Given the description of an element on the screen output the (x, y) to click on. 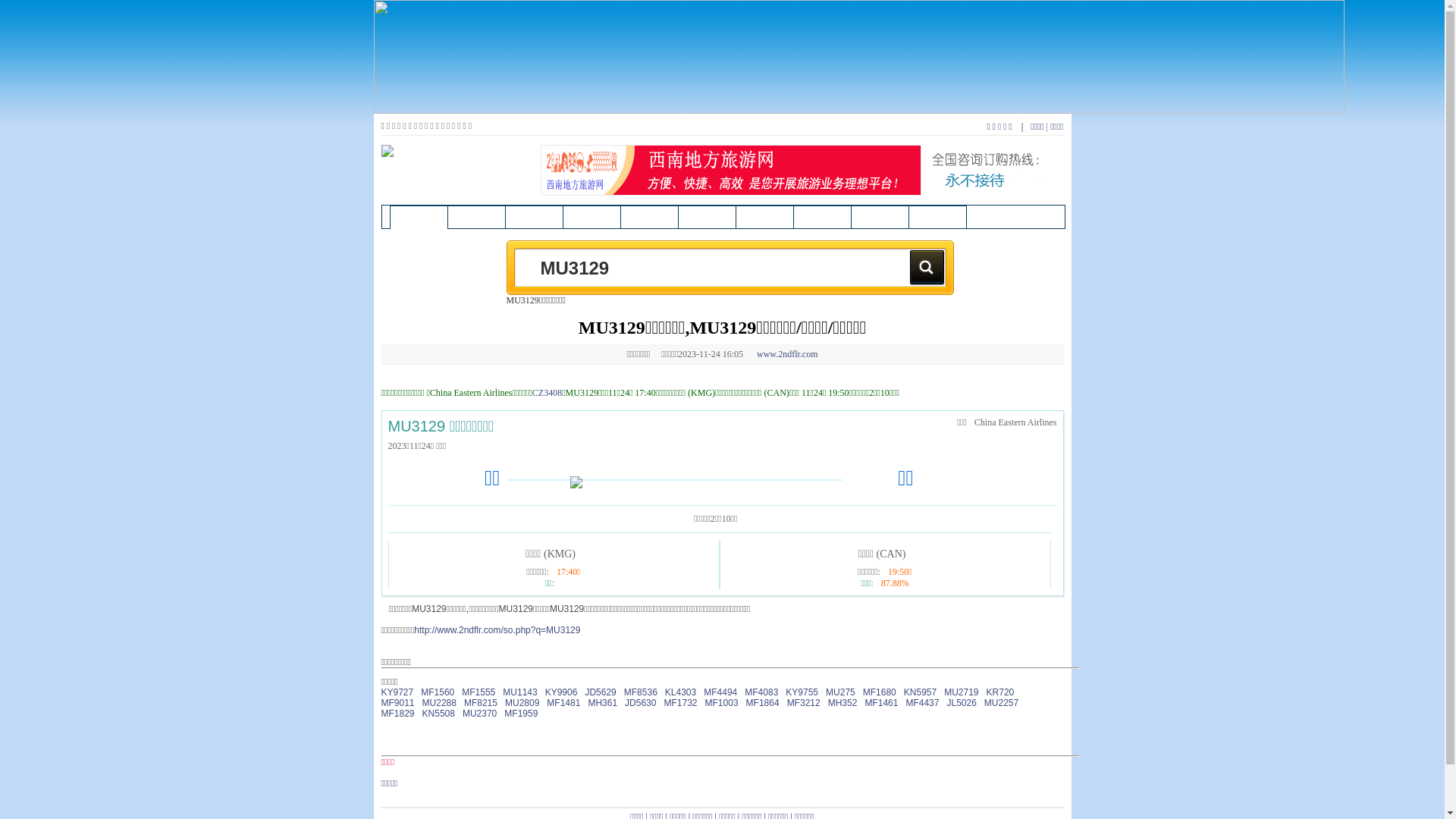
JD5629 Element type: text (599, 692)
CZ3408 Element type: text (546, 392)
MF4083 Element type: text (761, 692)
KN5957 Element type: text (919, 692)
MF8215 Element type: text (480, 702)
MF8536 Element type: text (640, 692)
MU275 Element type: text (840, 692)
MF1560 Element type: text (437, 692)
MF1481 Element type: text (563, 702)
JL5026 Element type: text (960, 702)
MU2257 Element type: text (1001, 702)
KL4303 Element type: text (680, 692)
MF4437 Element type: text (921, 702)
http://www.2ndflr.com/so.php?q=MU3129 Element type: text (497, 629)
KN5508 Element type: text (438, 713)
MH352 Element type: text (842, 702)
MF1864 Element type: text (762, 702)
MF1829 Element type: text (397, 713)
MU2809 Element type: text (522, 702)
KY9755 Element type: text (801, 692)
MH361 Element type: text (602, 702)
MF4494 Element type: text (720, 692)
MF9011 Element type: text (397, 702)
MF1959 Element type: text (520, 713)
KY9727 Element type: text (396, 692)
MU1143 Element type: text (519, 692)
MF1461 Element type: text (880, 702)
MU2719 Element type: text (961, 692)
MF1003 Element type: text (721, 702)
JD5630 Element type: text (639, 702)
MF3212 Element type: text (803, 702)
KY9906 Element type: text (561, 692)
www.2ndflr.com Element type: text (787, 353)
MF1680 Element type: text (879, 692)
MF1555 Element type: text (478, 692)
Search Element type: hover (926, 266)
MU2288 Element type: text (439, 702)
MF1732 Element type: text (679, 702)
MU2370 Element type: text (479, 713)
KR720 Element type: text (1000, 692)
